Given the description of an element on the screen output the (x, y) to click on. 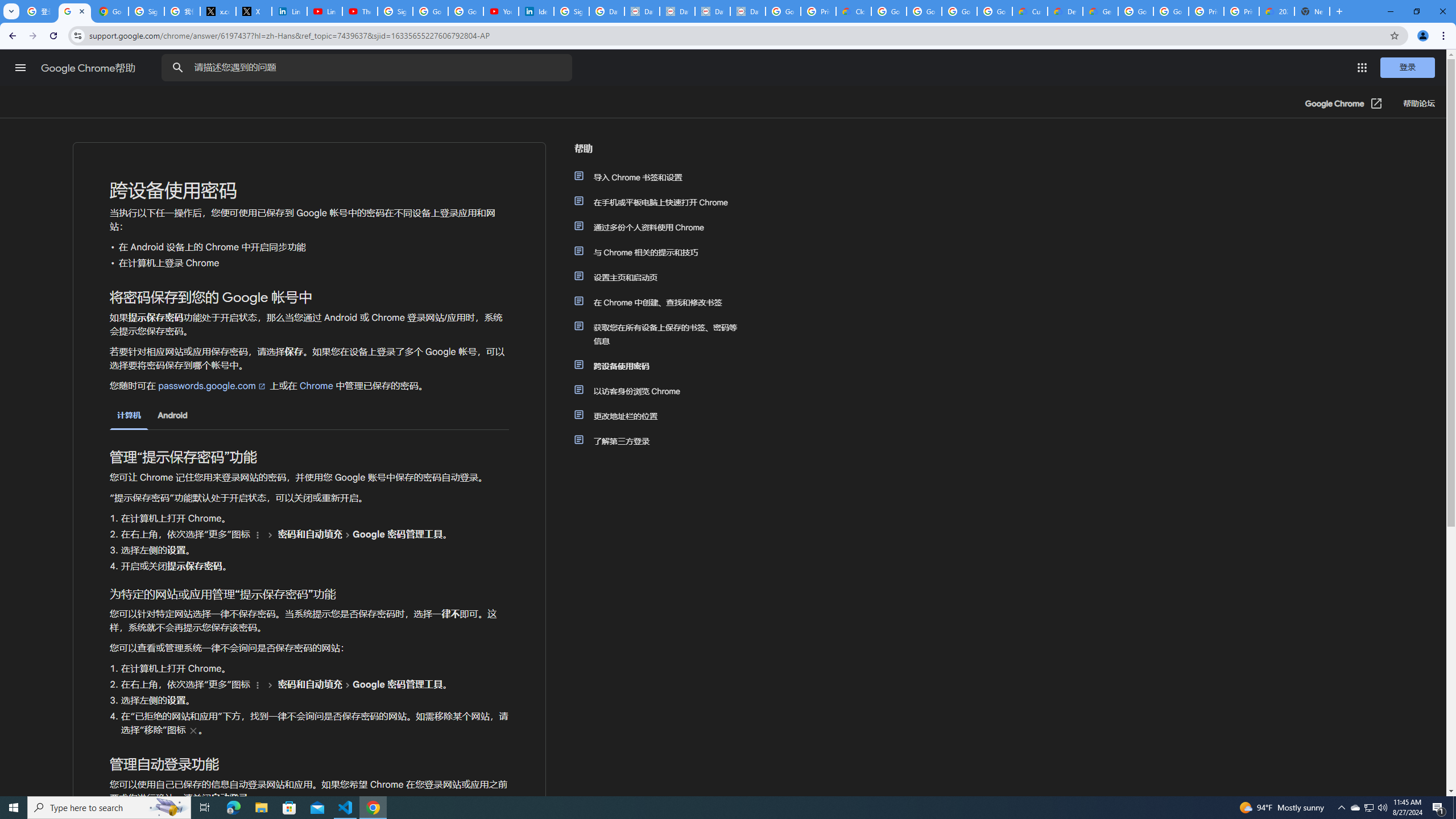
X (253, 11)
Sign in - Google Accounts (145, 11)
Android (172, 415)
Cloud Data Processing Addendum | Google Cloud (853, 11)
